Given the description of an element on the screen output the (x, y) to click on. 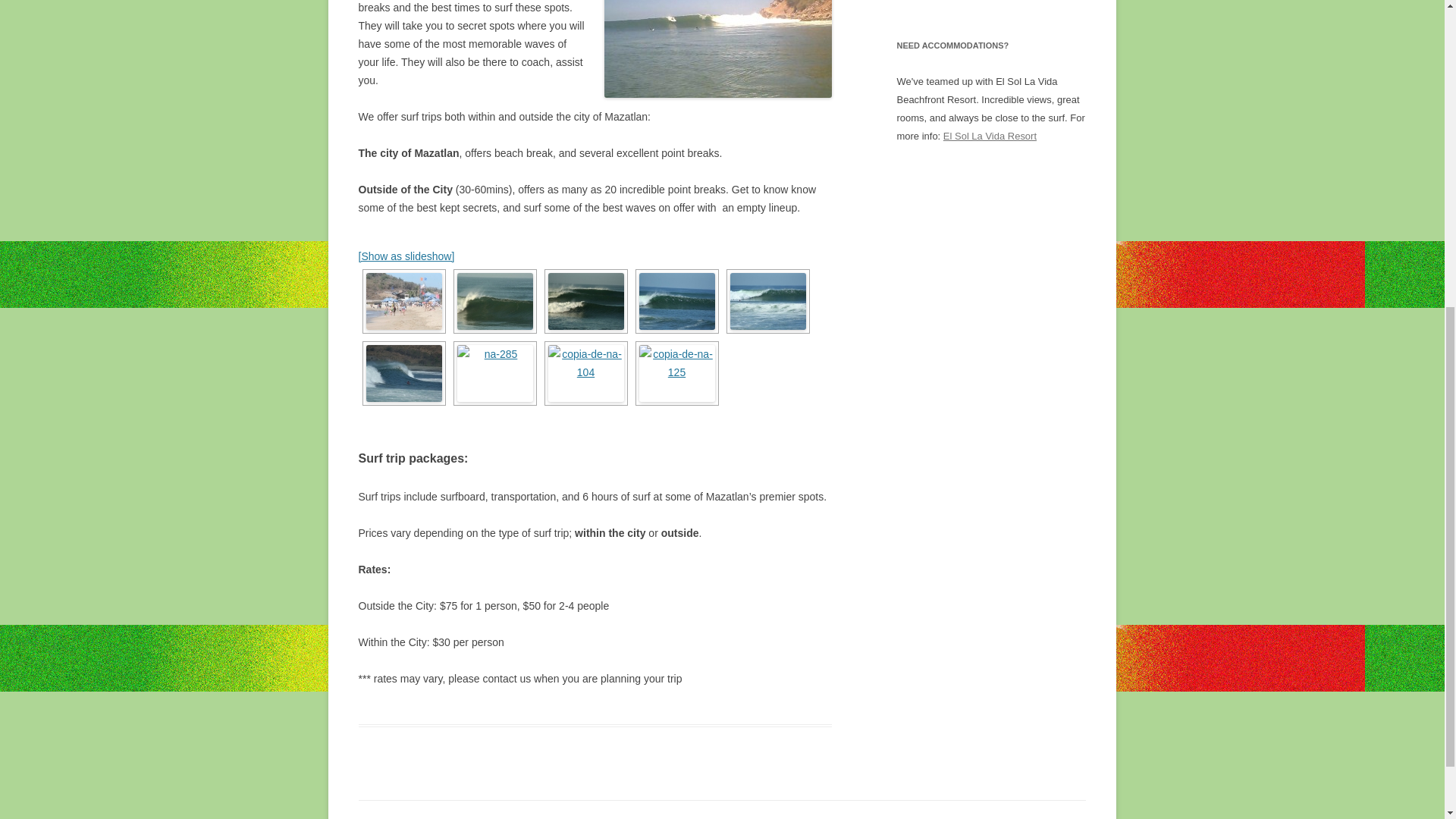
na-042 (585, 301)
na-038 (494, 301)
El Sol La Vida Resort (989, 135)
na-052 (676, 301)
na-053 (767, 301)
